Given the description of an element on the screen output the (x, y) to click on. 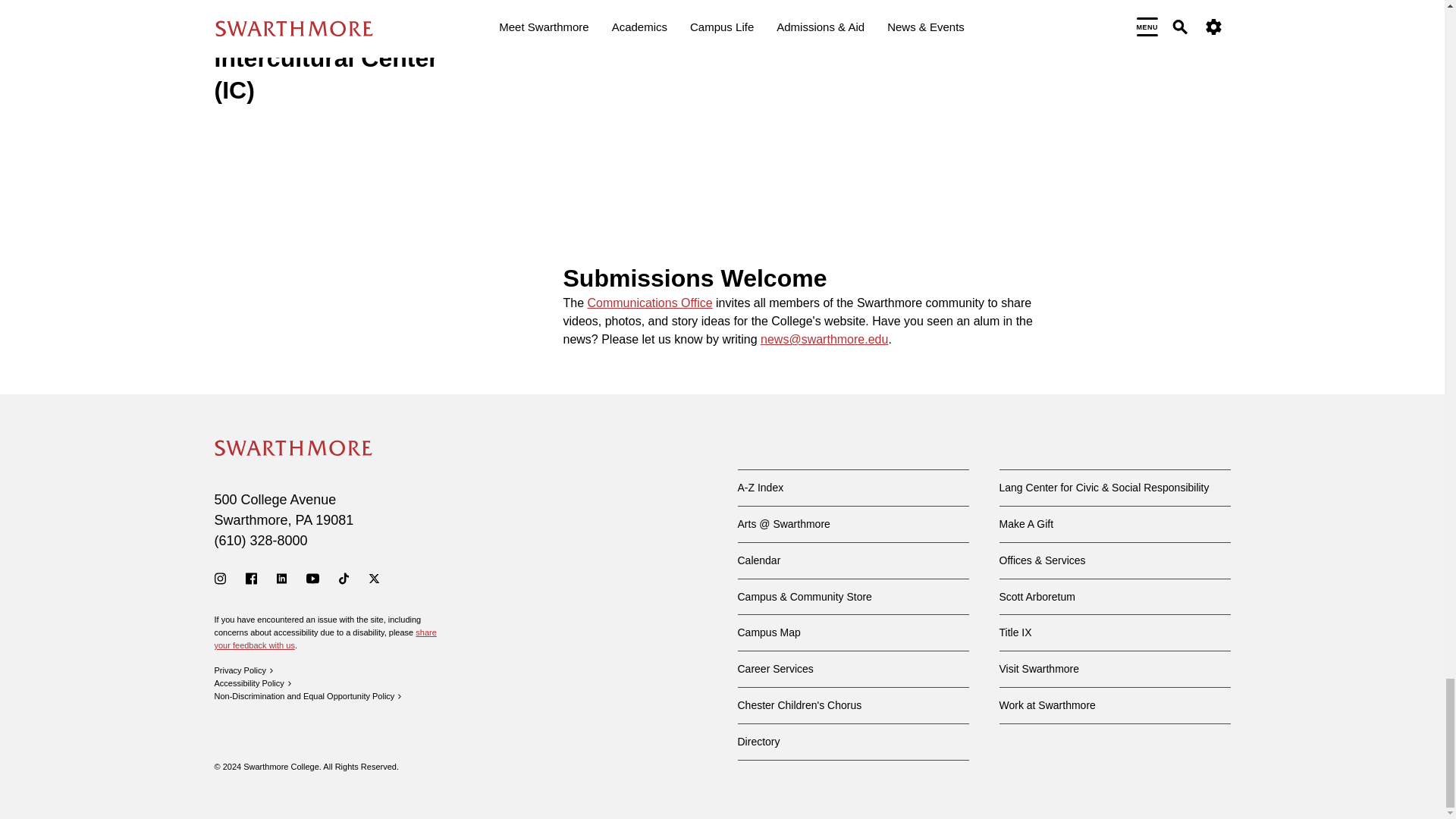
Swarthmore College - Home (292, 447)
Instagram (219, 578)
Facebook (251, 578)
YouTube (311, 578)
